Given the description of an element on the screen output the (x, y) to click on. 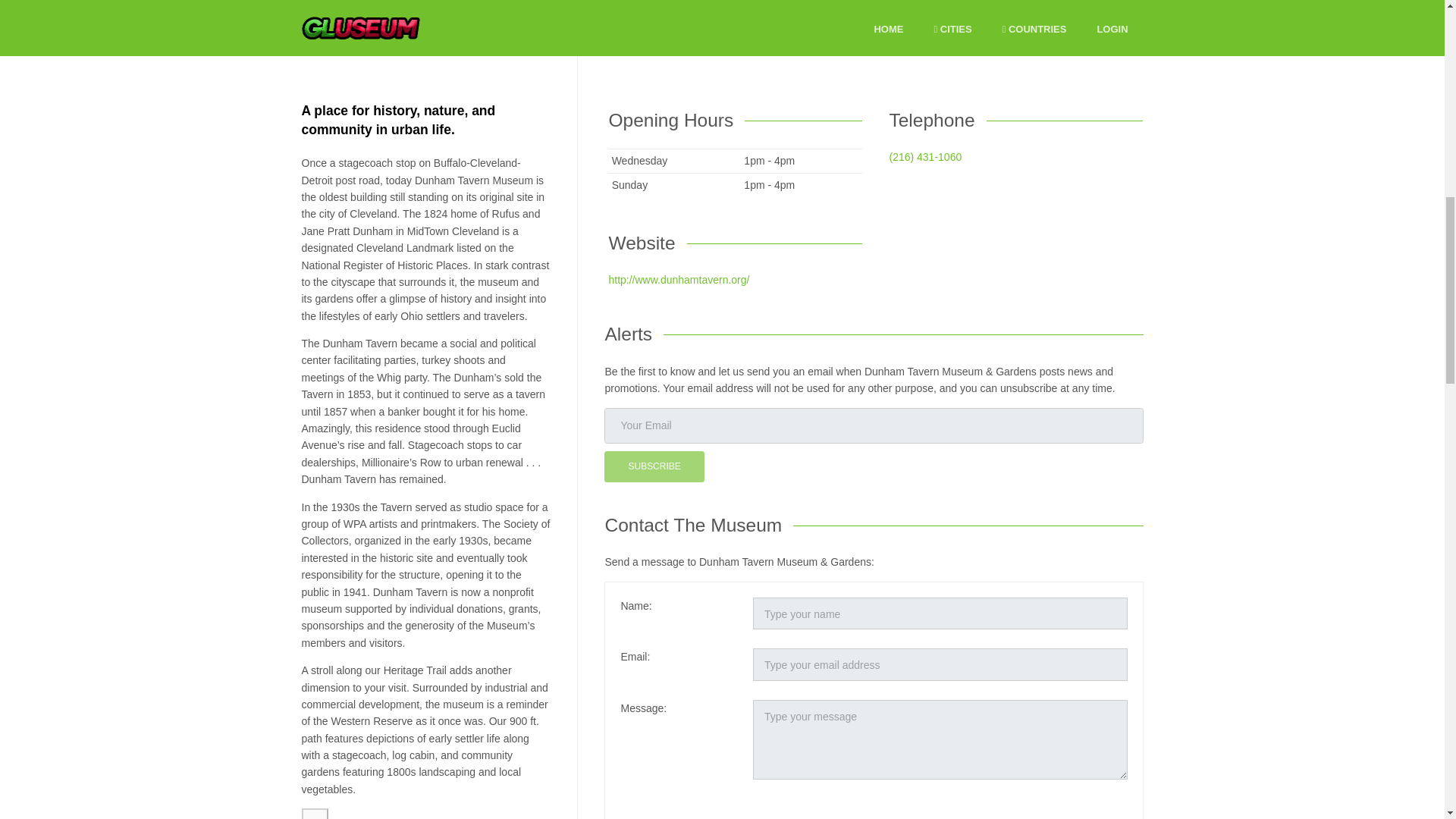
 ...  (315, 813)
 History Museum (418, 49)
SUBSCRIBE (653, 466)
